Given the description of an element on the screen output the (x, y) to click on. 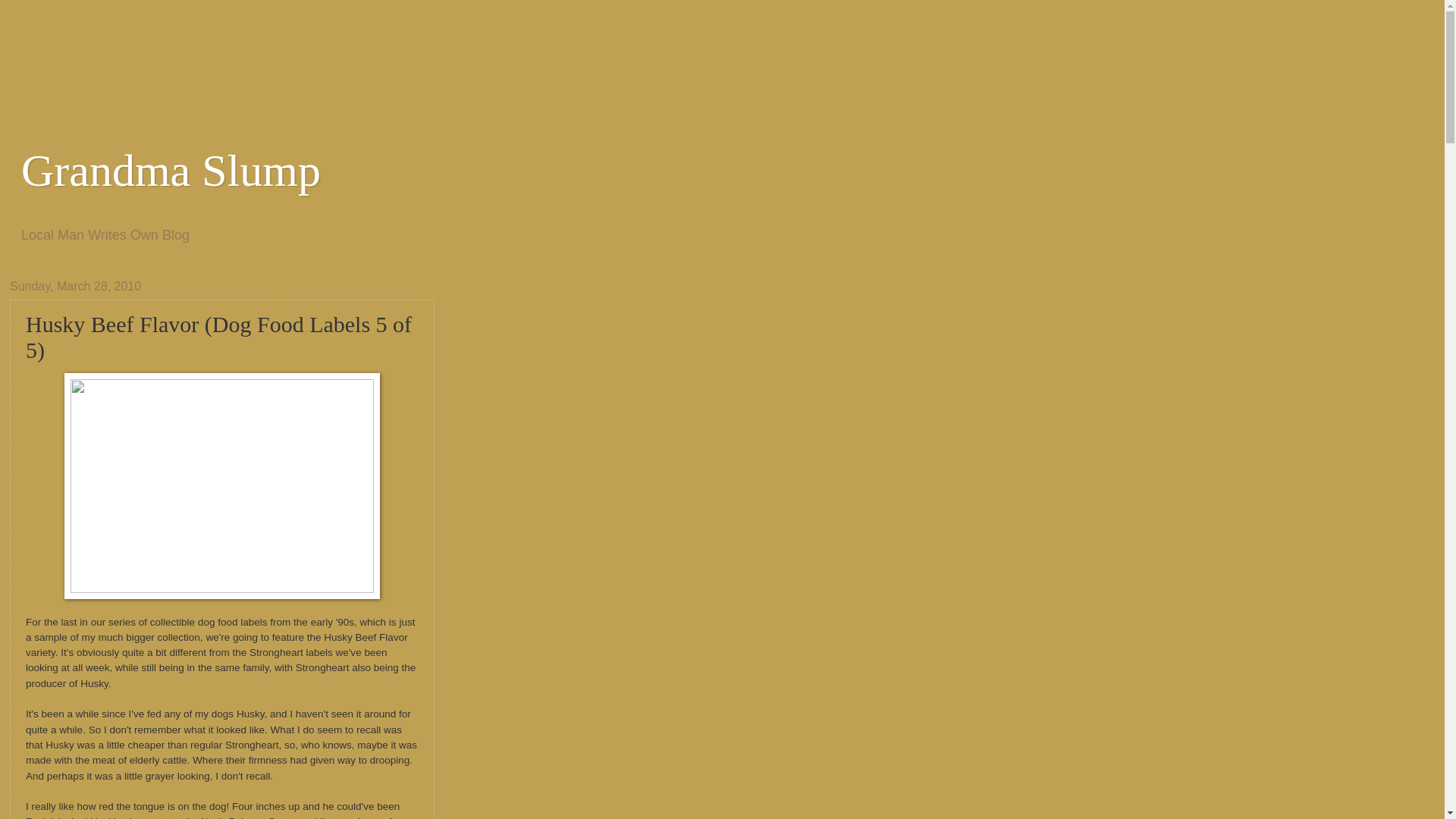
Grandma Slump (170, 170)
